Given the description of an element on the screen output the (x, y) to click on. 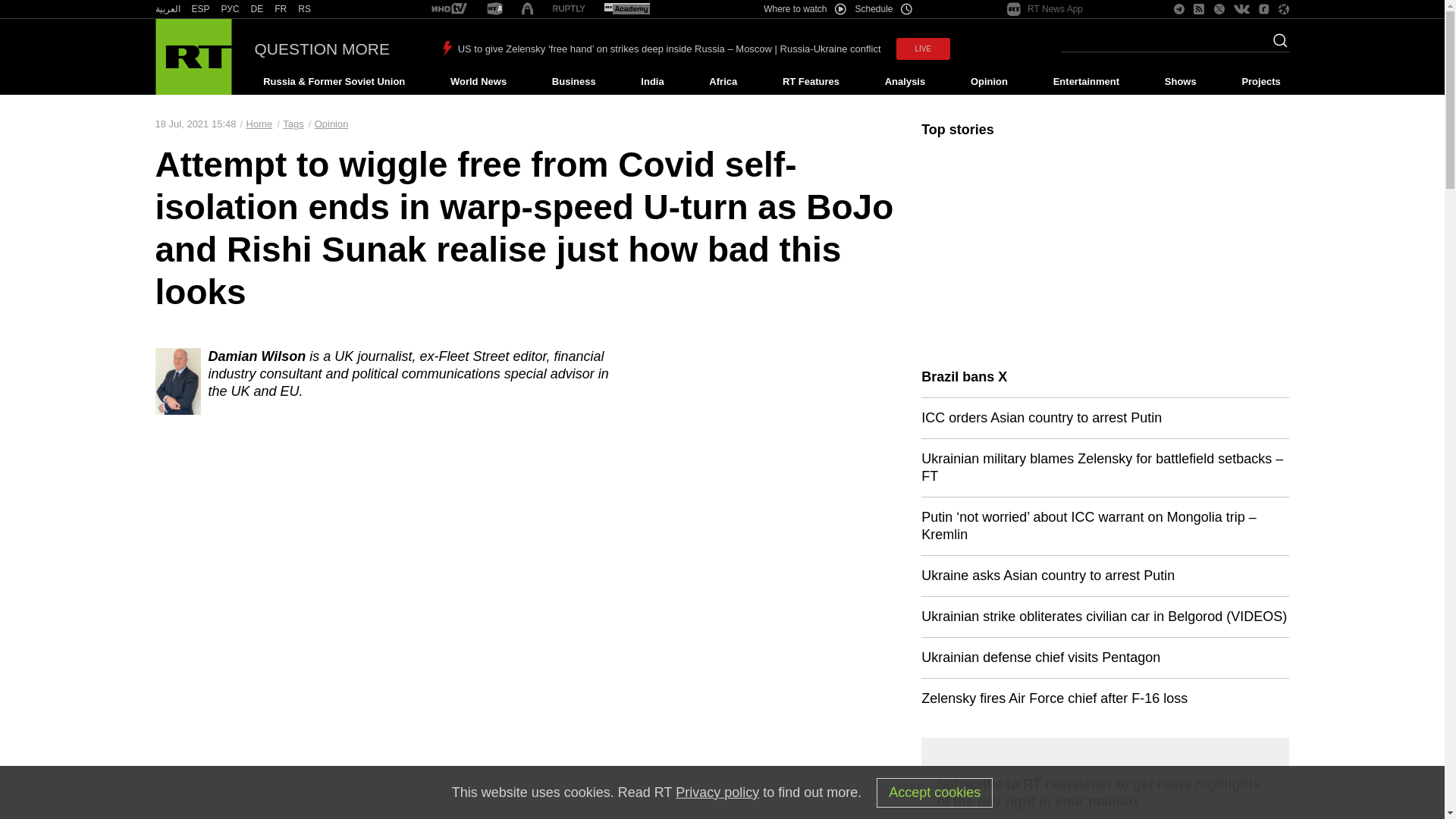
RT  (166, 9)
RT  (280, 9)
Shows (1180, 81)
QUESTION MORE (322, 48)
Schedule (884, 9)
RT Features (810, 81)
FR (280, 9)
Search (1276, 44)
Africa (722, 81)
RT  (256, 9)
